Given the description of an element on the screen output the (x, y) to click on. 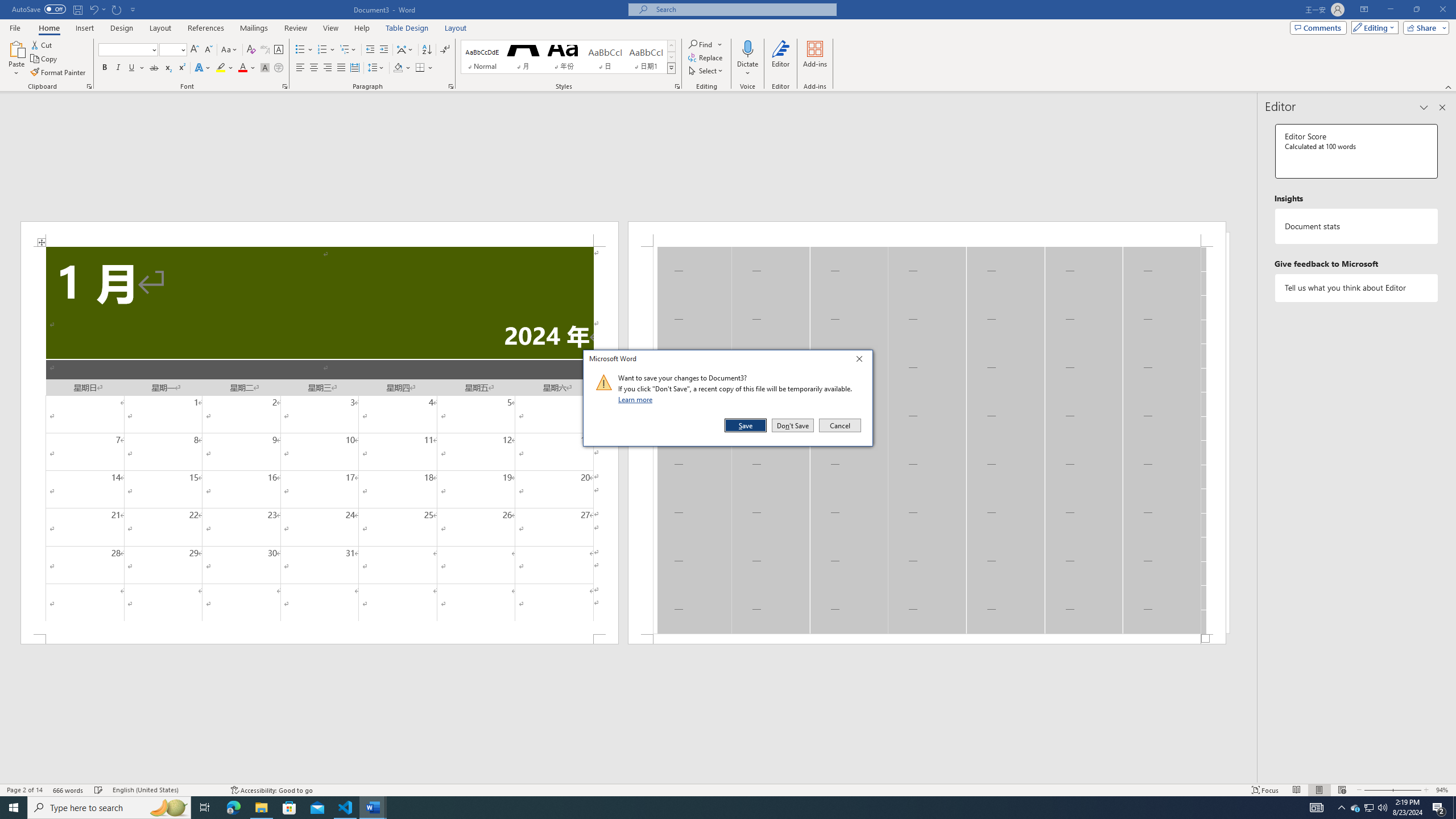
Read Mode (1296, 790)
Replace... (705, 56)
Line and Paragraph Spacing (376, 67)
Ribbon Display Options (1364, 9)
Share (1423, 27)
Increase Indent (383, 49)
Row up (670, 45)
Asian Layout (405, 49)
Dictate (747, 48)
Shading RGB(0, 0, 0) (397, 67)
Page Number Page 2 of 14 (24, 790)
View (330, 28)
